Given the description of an element on the screen output the (x, y) to click on. 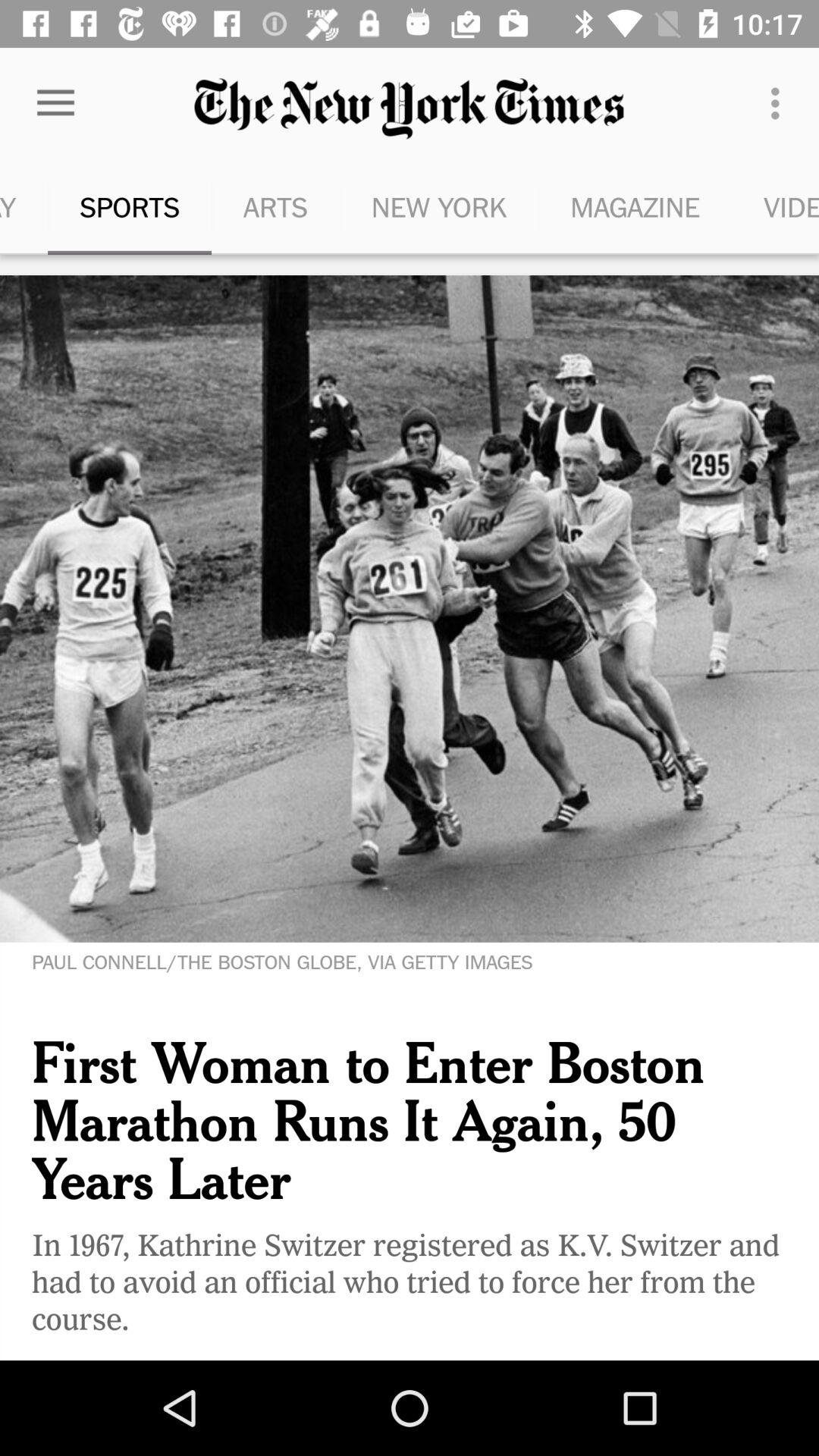
swipe to arts (275, 206)
